Given the description of an element on the screen output the (x, y) to click on. 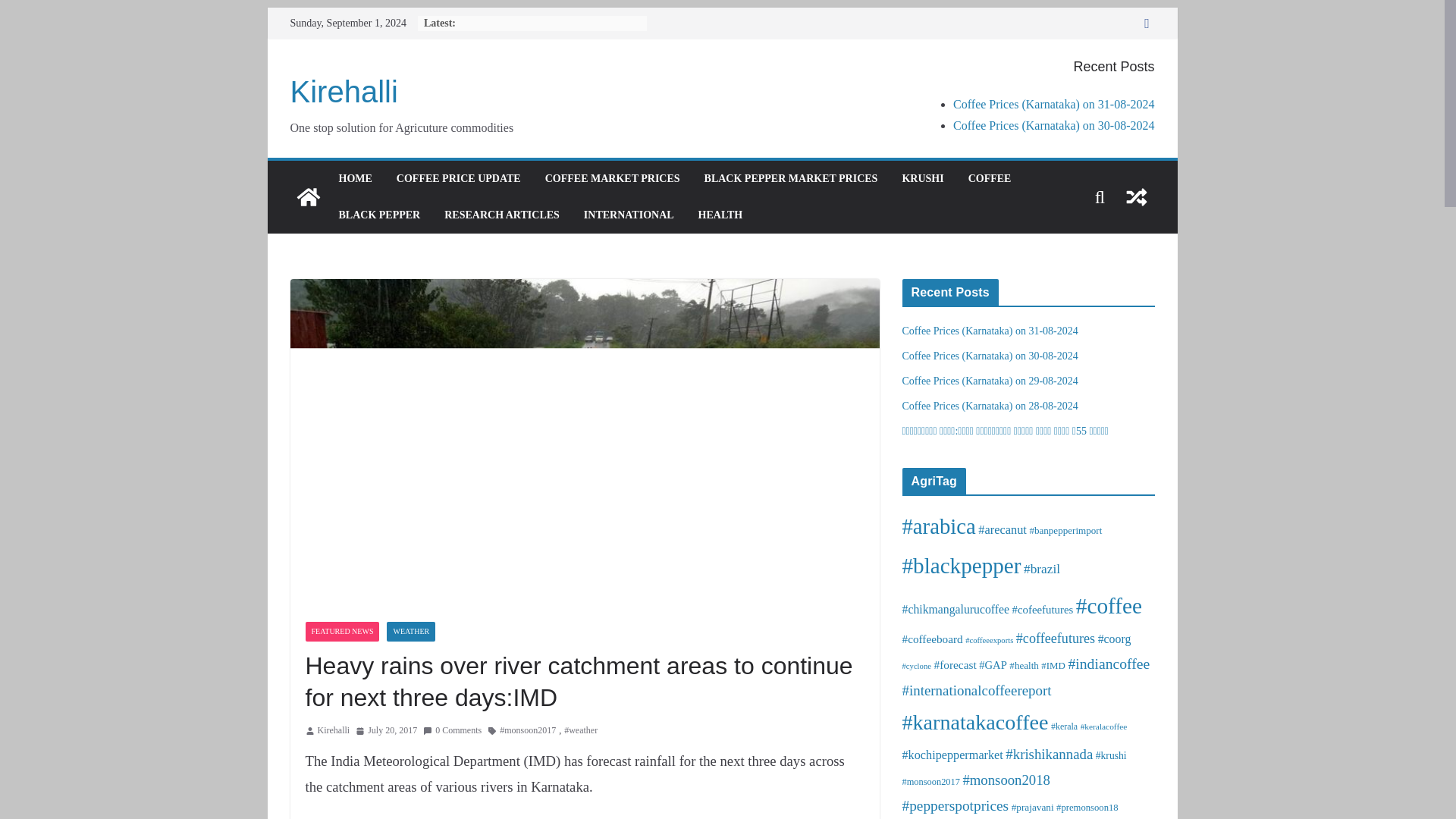
Kirehalli (333, 730)
HEALTH (720, 215)
COFFEE (989, 178)
0 Comments (452, 730)
BLACK PEPPER MARKET PRICES (790, 178)
Kirehalli (343, 91)
8:46 am (385, 730)
INTERNATIONAL (628, 215)
Kirehalli (343, 91)
